Given the description of an element on the screen output the (x, y) to click on. 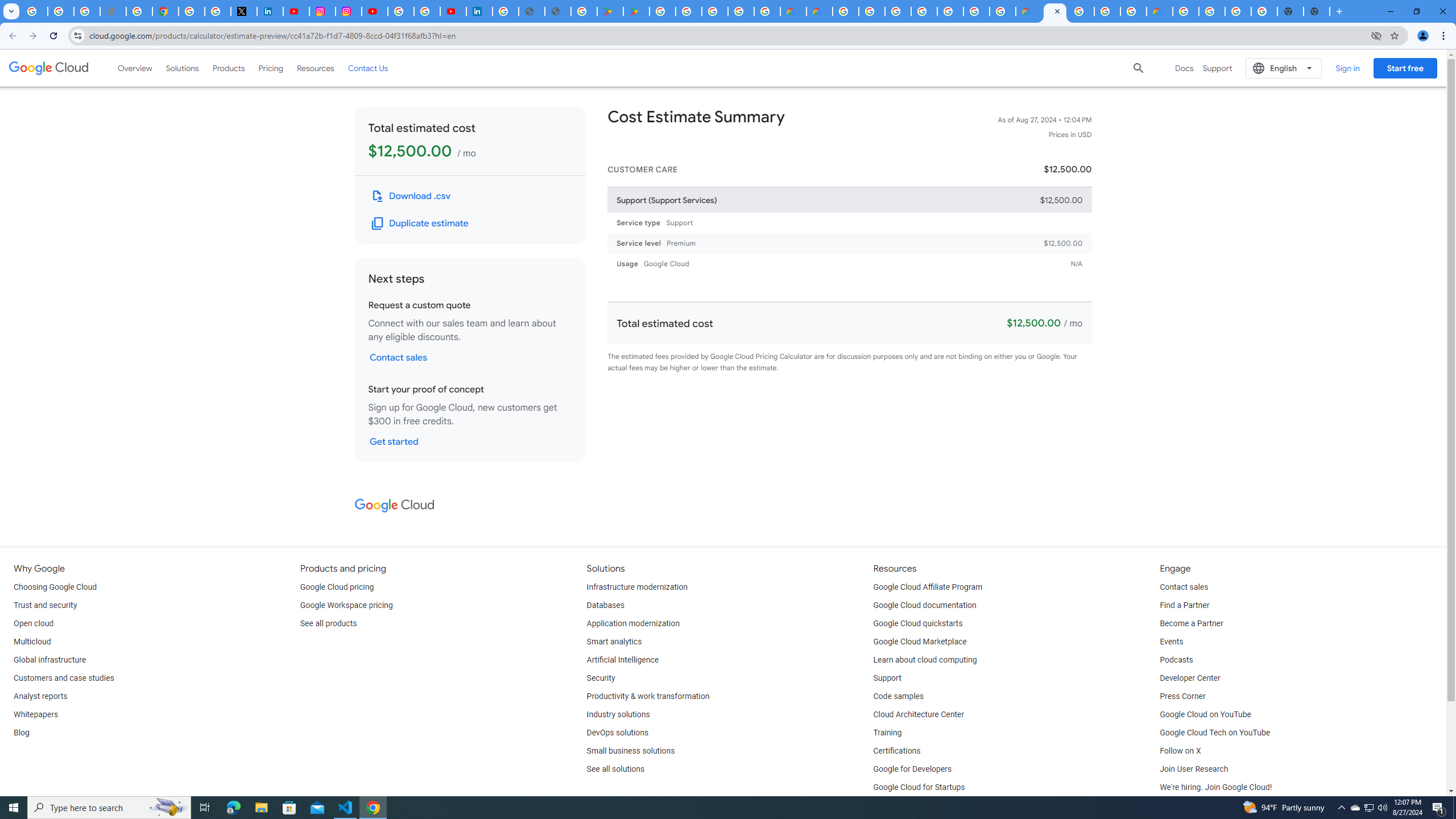
Events (1170, 642)
Small business solutions (630, 751)
Google Workspace - Specific Terms (766, 11)
Training (887, 732)
Android Apps on Google Play (610, 11)
Become a Partner (1190, 624)
